Given the description of an element on the screen output the (x, y) to click on. 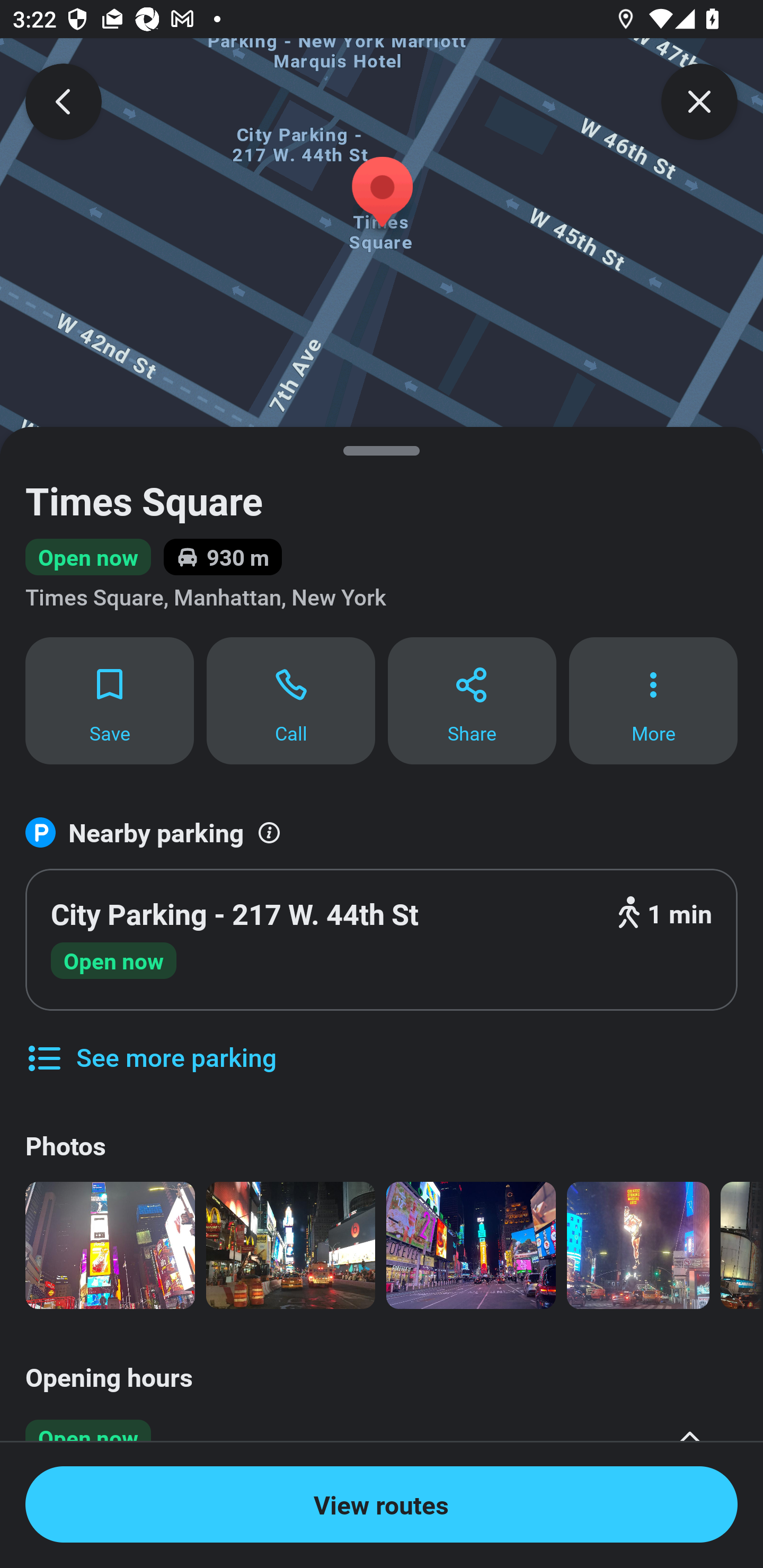
Save (109, 700)
Call (290, 700)
Share (471, 700)
More (653, 700)
City Parking - 217 W. 44th St 1 min Open now (381, 939)
See more parking (150, 1043)
View routes (381, 1504)
